Given the description of an element on the screen output the (x, y) to click on. 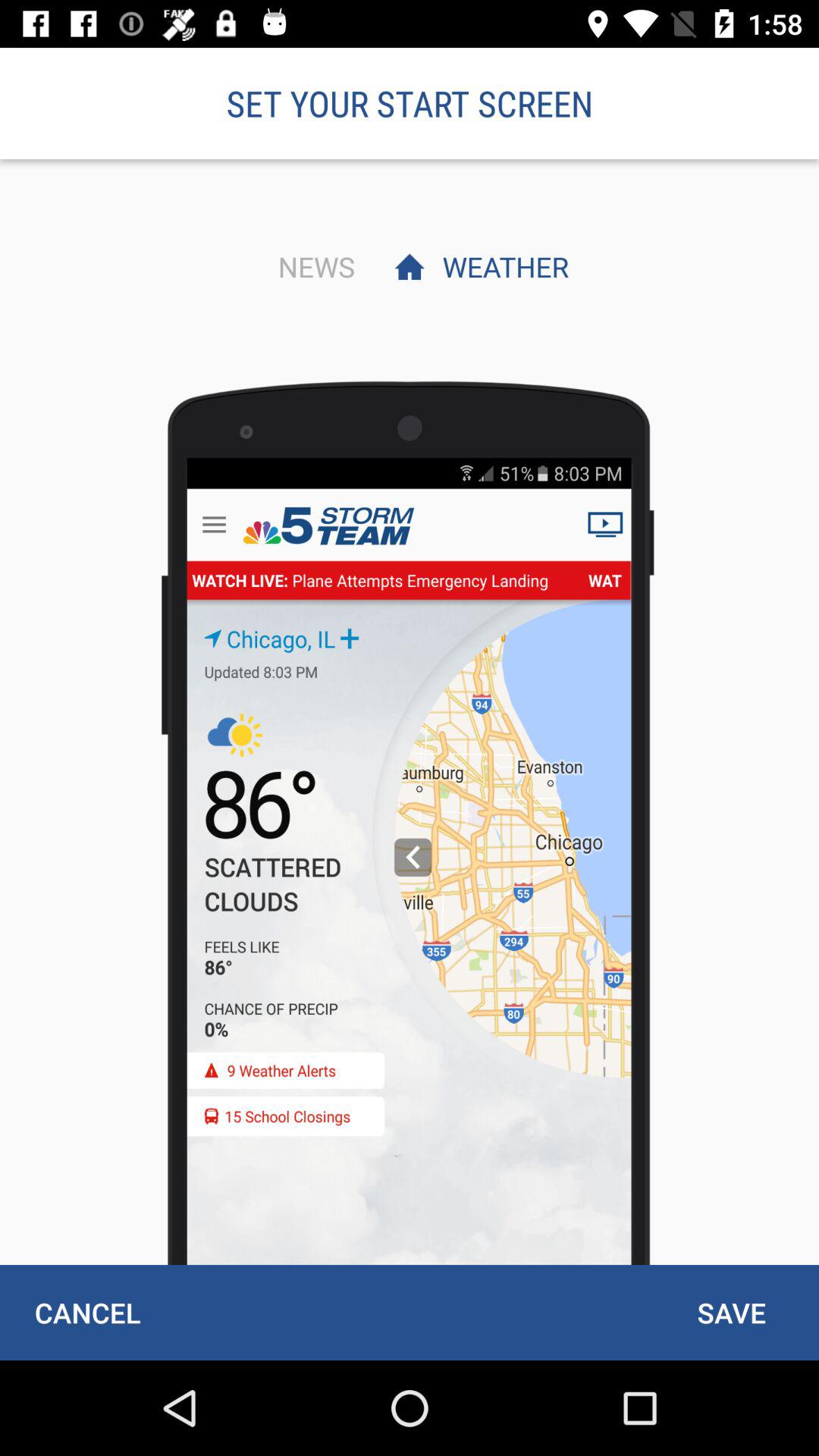
turn on item next to save icon (87, 1312)
